Given the description of an element on the screen output the (x, y) to click on. 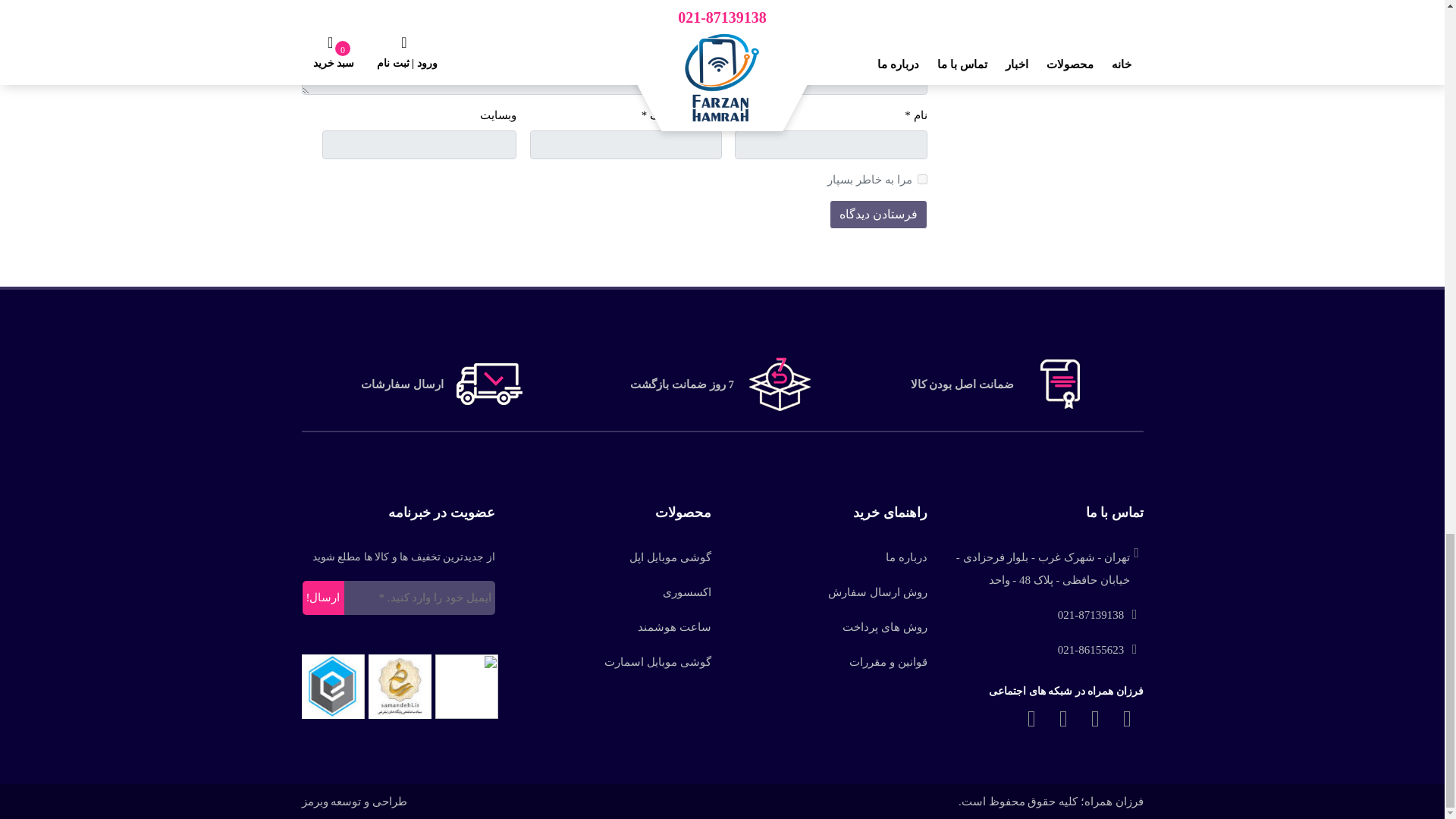
phone (1100, 614)
webramz (354, 801)
whatsapp (1127, 718)
instagram (1032, 718)
phone (1100, 649)
telegram (1096, 718)
yes (922, 179)
aparat (1064, 718)
